Given the description of an element on the screen output the (x, y) to click on. 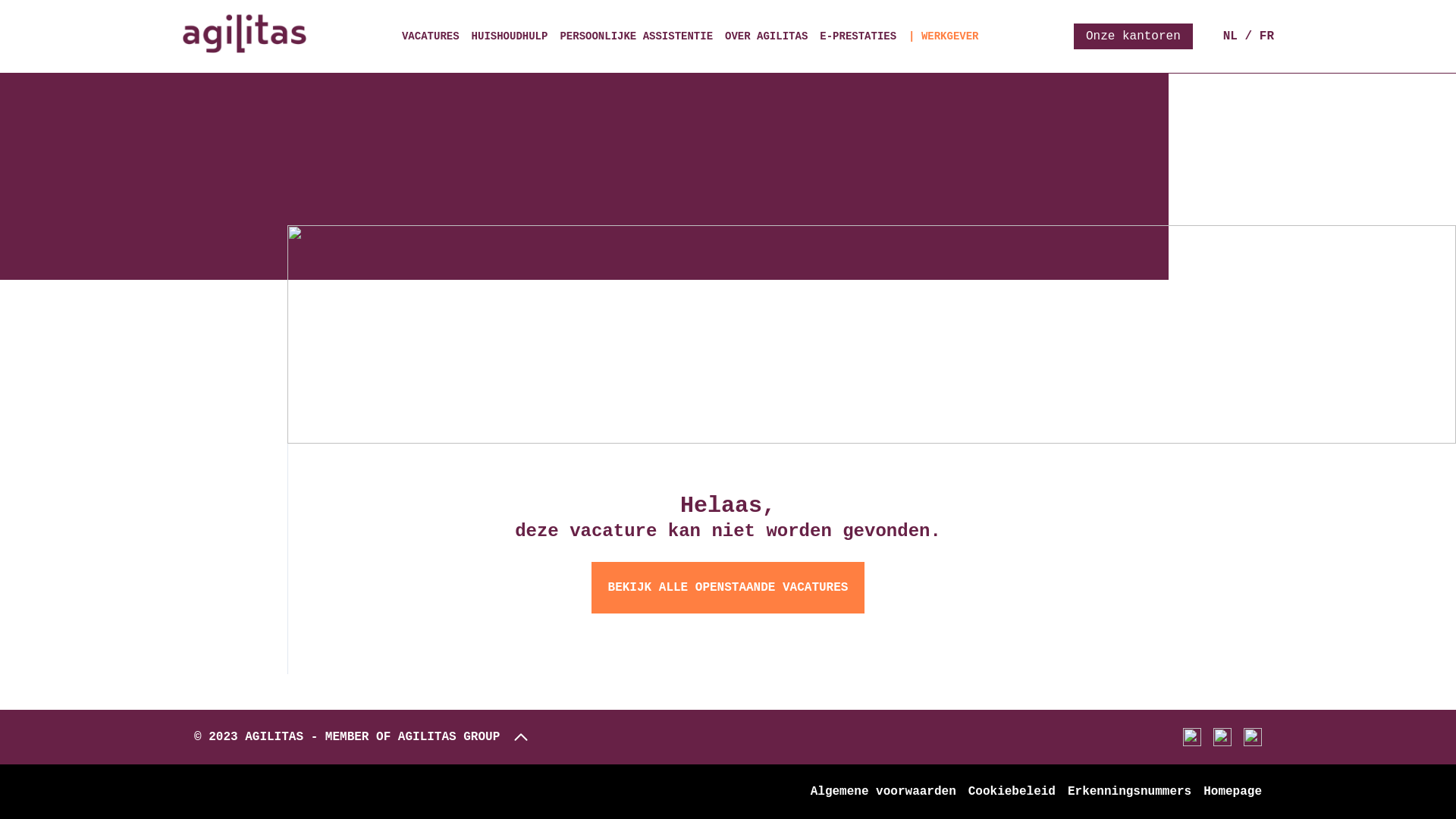
Homepage Element type: text (1232, 791)
HUISHOUDHULP Element type: text (509, 36)
VACATURES Element type: text (430, 36)
PERSOONLIJKE ASSISTENTIE Element type: text (635, 36)
| WERKGEVER Element type: text (943, 36)
Algemene voorwaarden Element type: text (883, 791)
Erkenningsnummers Element type: text (1129, 791)
E-PRESTATIES Element type: text (857, 36)
Onze kantoren Element type: text (1132, 36)
FR Element type: text (1266, 36)
Cookiebeleid Element type: text (1011, 791)
NL Element type: text (1230, 36)
OVER AGILITAS Element type: text (765, 36)
BEKIJK ALLE OPENSTAANDE VACATURES Element type: text (728, 587)
